Given the description of an element on the screen output the (x, y) to click on. 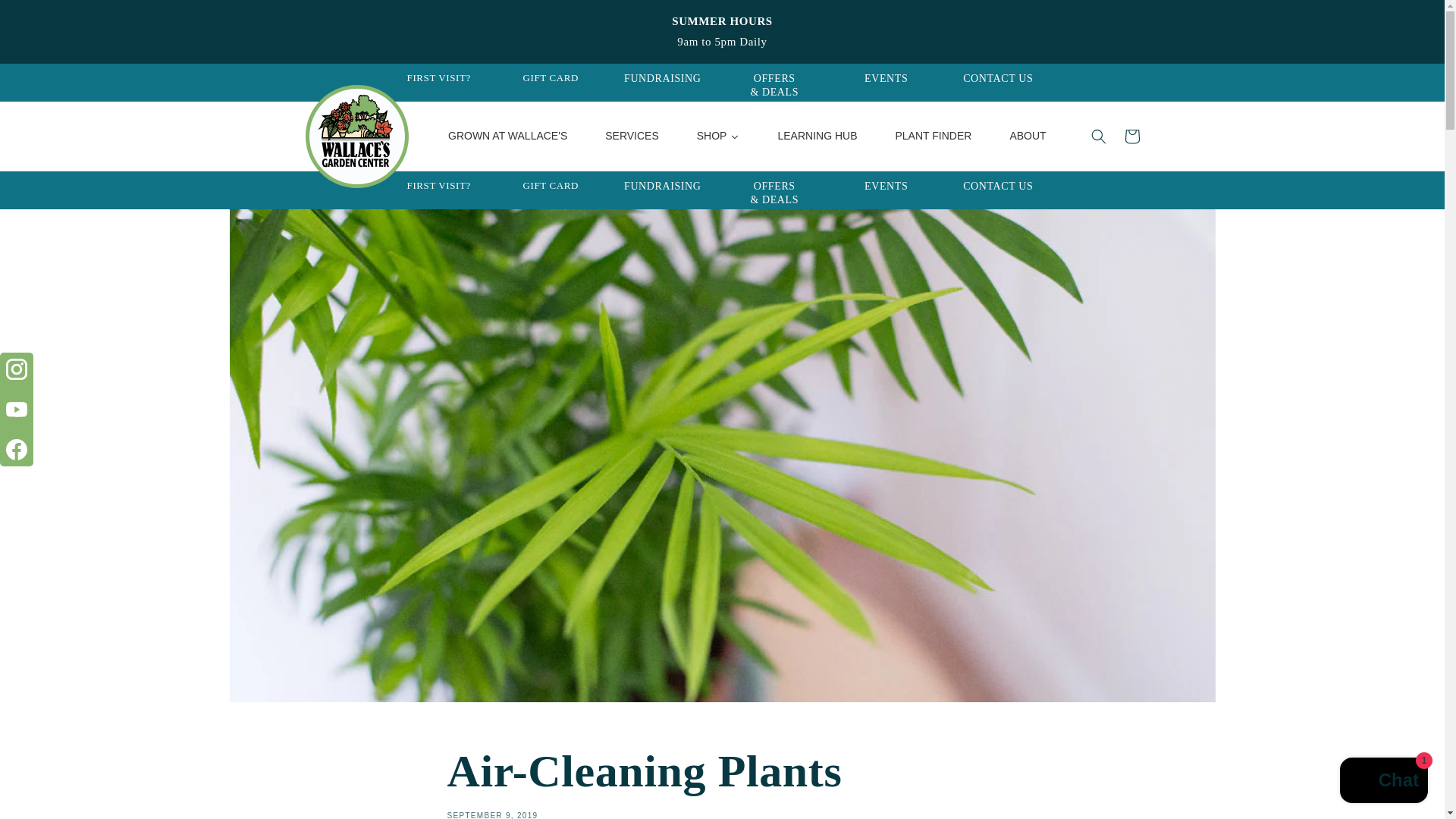
SERVICES (632, 135)
SHOP (718, 135)
Cart (1131, 136)
Skip to content (45, 17)
CONTACT US (997, 185)
LEARNING HUB (817, 135)
LEARNING HUB (817, 135)
FUNDRAISING (662, 185)
Shopify online store chat (1383, 781)
EVENTS (885, 78)
ABOUT (1027, 135)
FUNDRAISING (662, 78)
GROWN AT WALLACE'S (507, 135)
CONTACT US (997, 78)
EVENTS (885, 185)
